Given the description of an element on the screen output the (x, y) to click on. 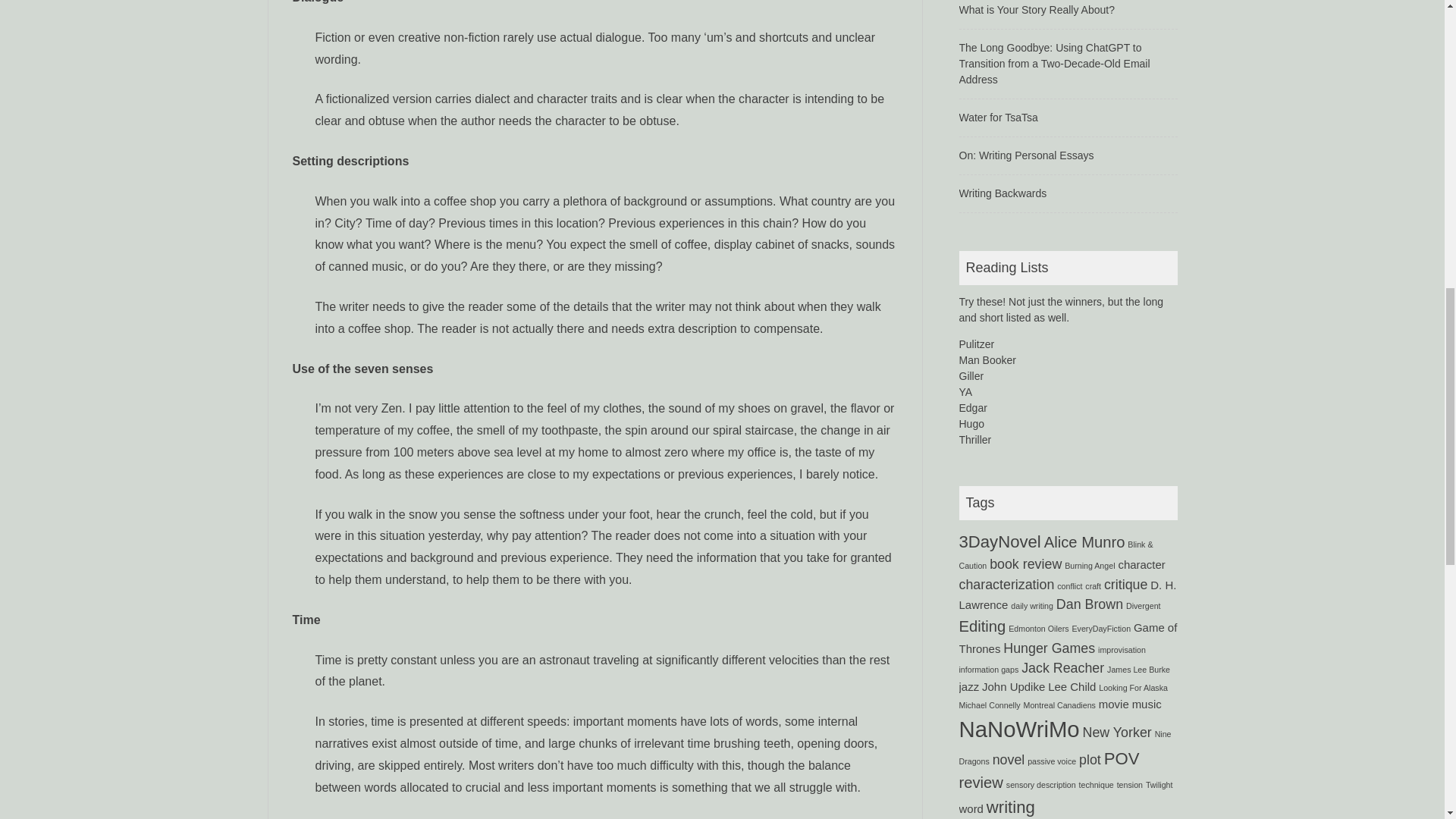
Water for TsaTsa (997, 117)
Hugo (971, 423)
What is Your Story Really About? (1035, 9)
Writing Backwards (1002, 193)
Edgar (972, 408)
book review (1025, 563)
Alice Munro (1084, 541)
characterization (1006, 584)
character (1141, 563)
